Given the description of an element on the screen output the (x, y) to click on. 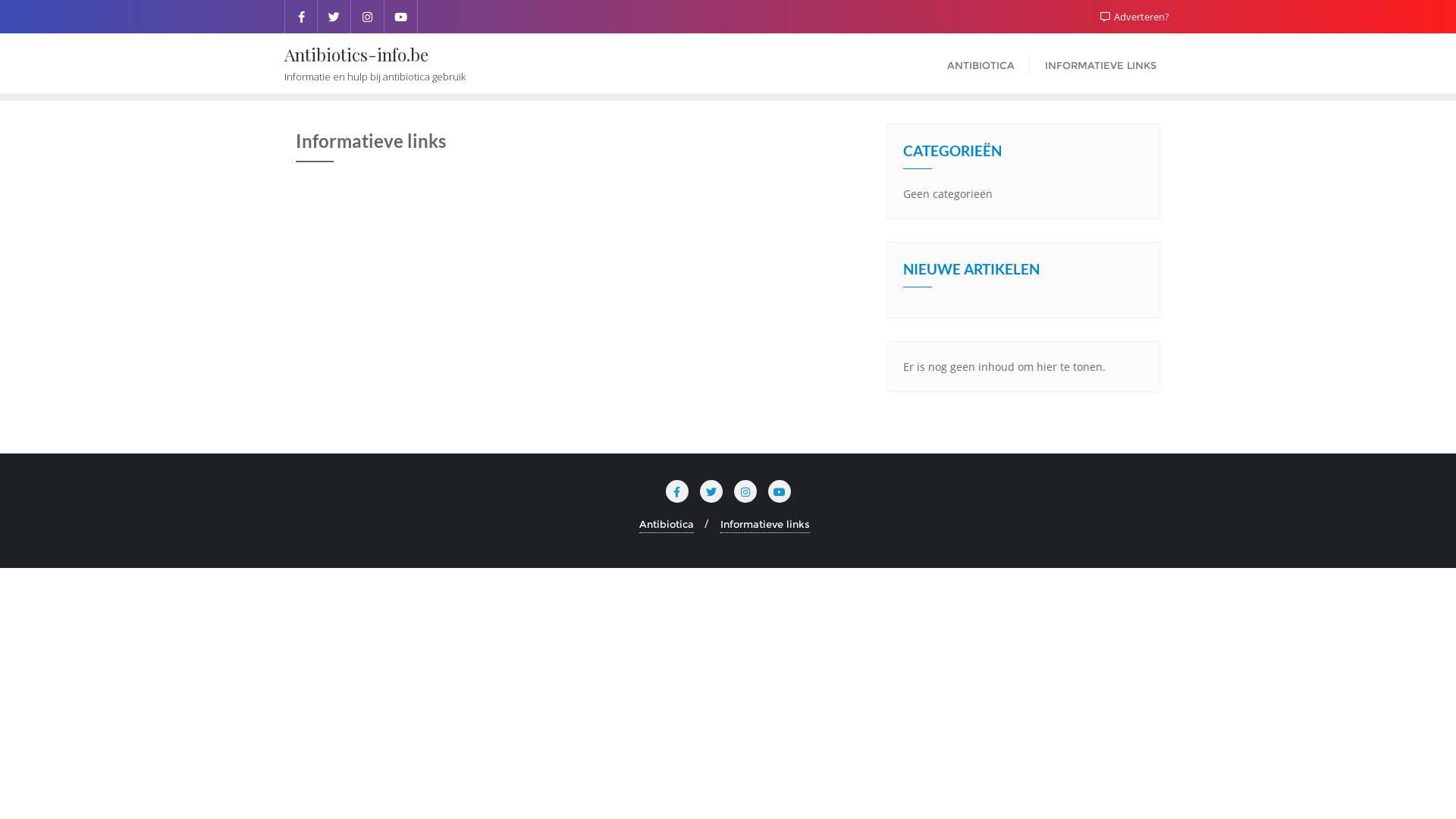
Informatieve links Element type: text (764, 524)
Antibiotica Element type: text (665, 524)
Adverteren? Element type: text (1134, 16)
INFORMATIEVE LINKS Element type: text (1100, 63)
ANTIBIOTICA Element type: text (980, 63)
